Given the description of an element on the screen output the (x, y) to click on. 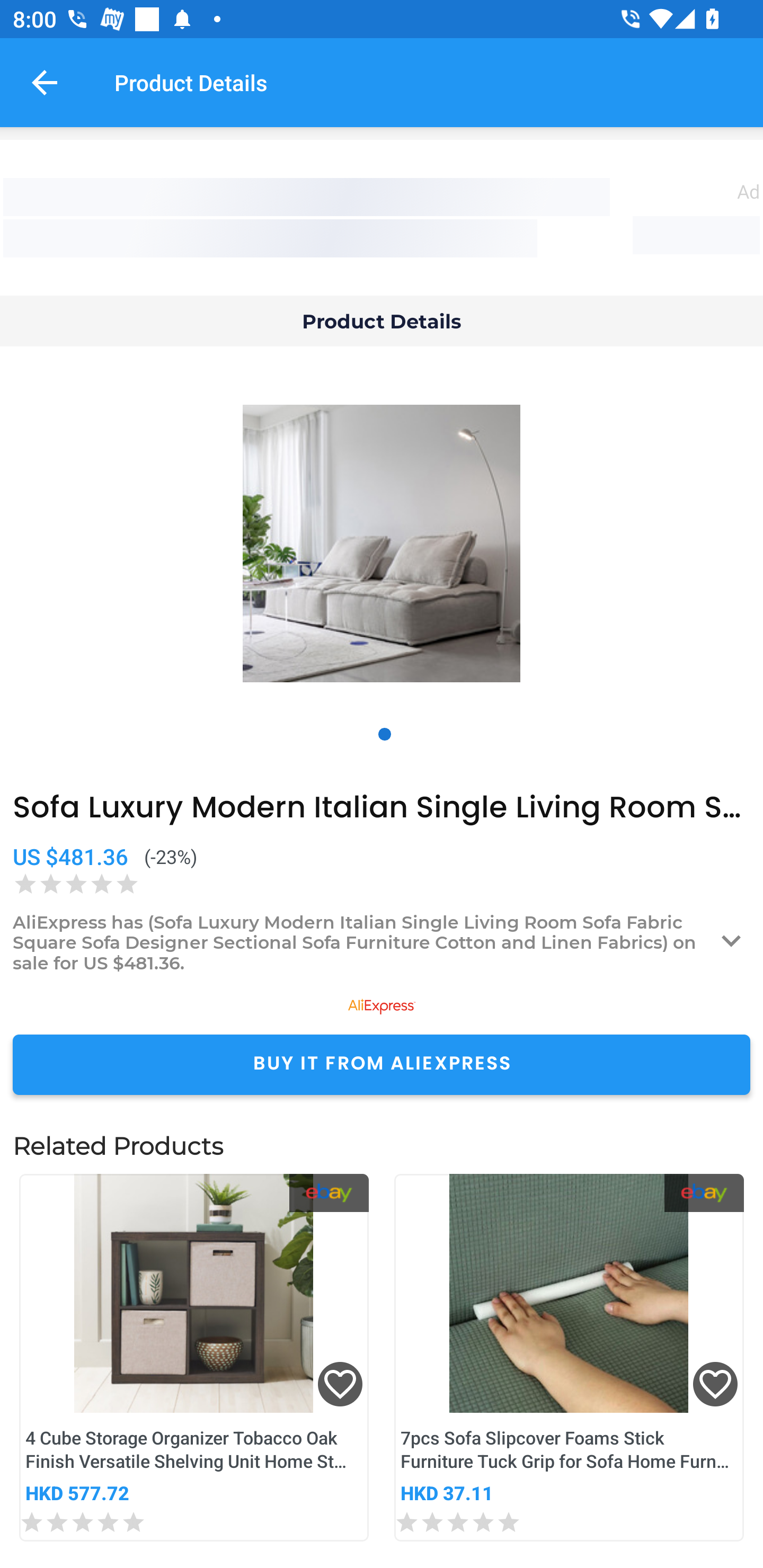
Navigate up (44, 82)
BUY IT FROM ALIEXPRESS (381, 1064)
